Given the description of an element on the screen output the (x, y) to click on. 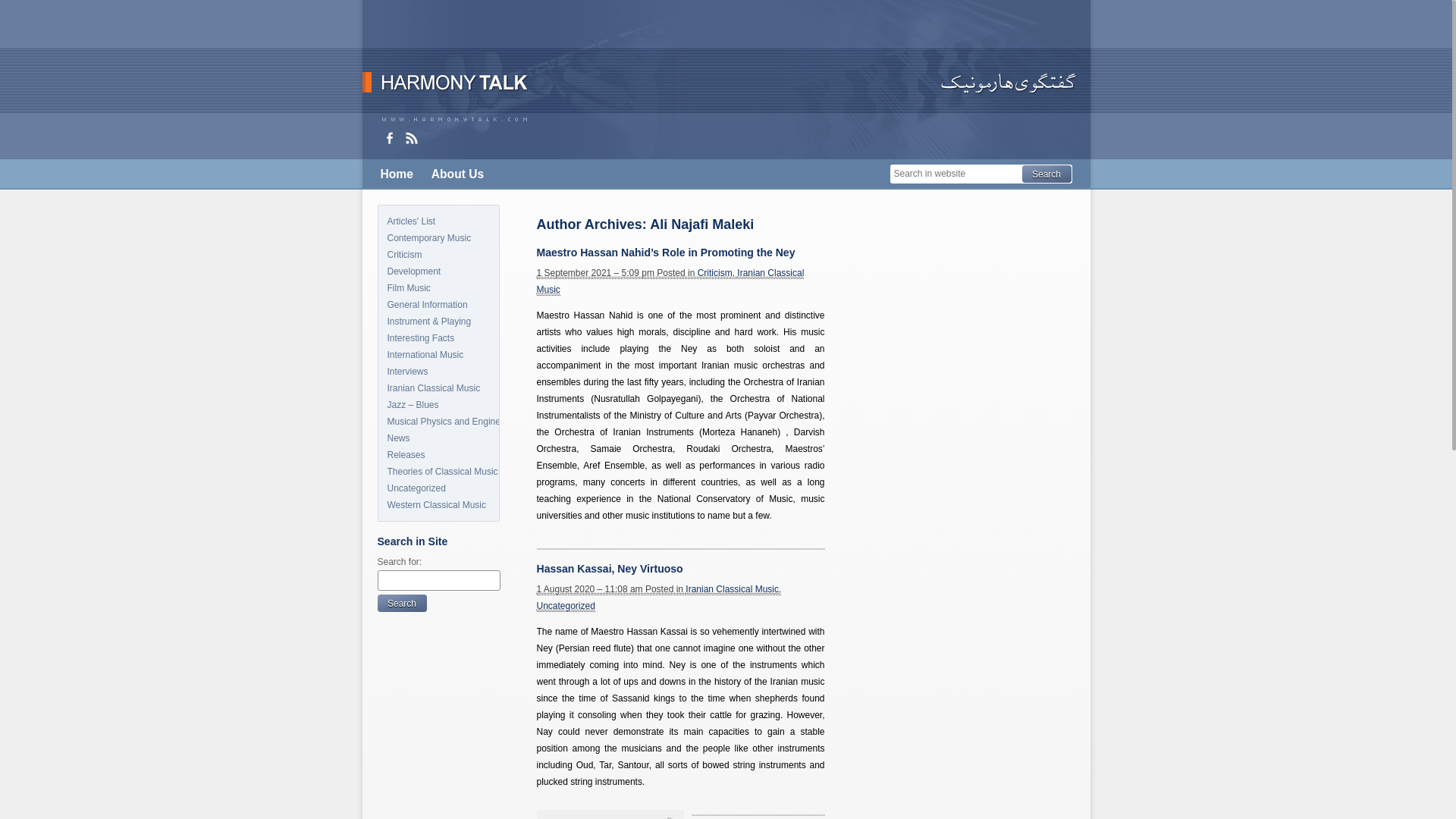
International Music (437, 354)
Ali Najafi Maleki (701, 224)
Articles' List (437, 221)
Film Music (437, 288)
Hassan Kassai, Ney Virtuoso (609, 568)
Criticism (437, 254)
Iranian Classical Music (437, 388)
Search (1046, 173)
Criticism (714, 272)
Interesting Facts (437, 338)
Ali Najafi Maleki (701, 224)
General Information (437, 304)
Search (401, 602)
About Us (456, 173)
